Given the description of an element on the screen output the (x, y) to click on. 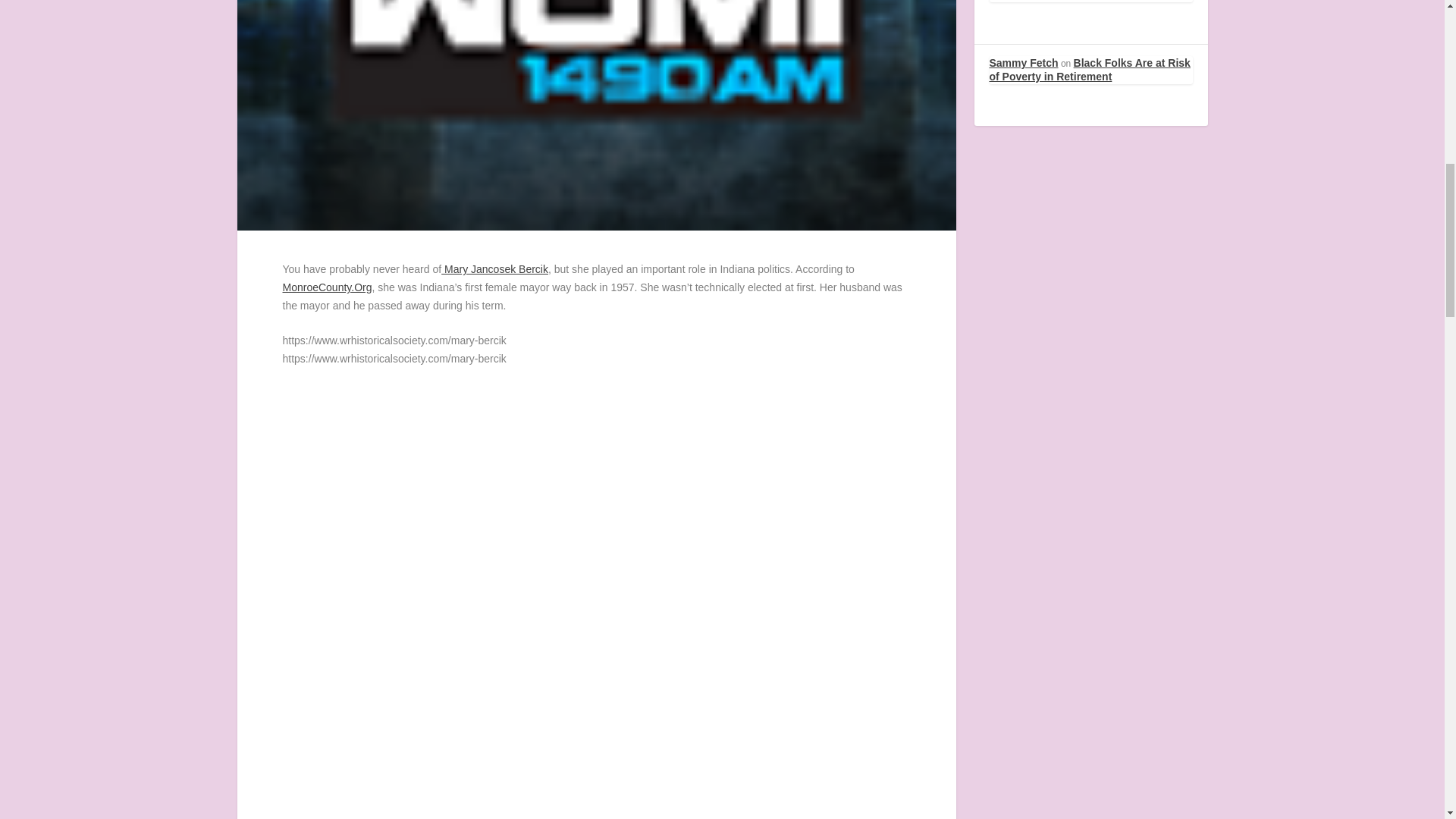
 Mary Jancosek Bercik (494, 268)
MonroeCounty.Org (326, 287)
